Given the description of an element on the screen output the (x, y) to click on. 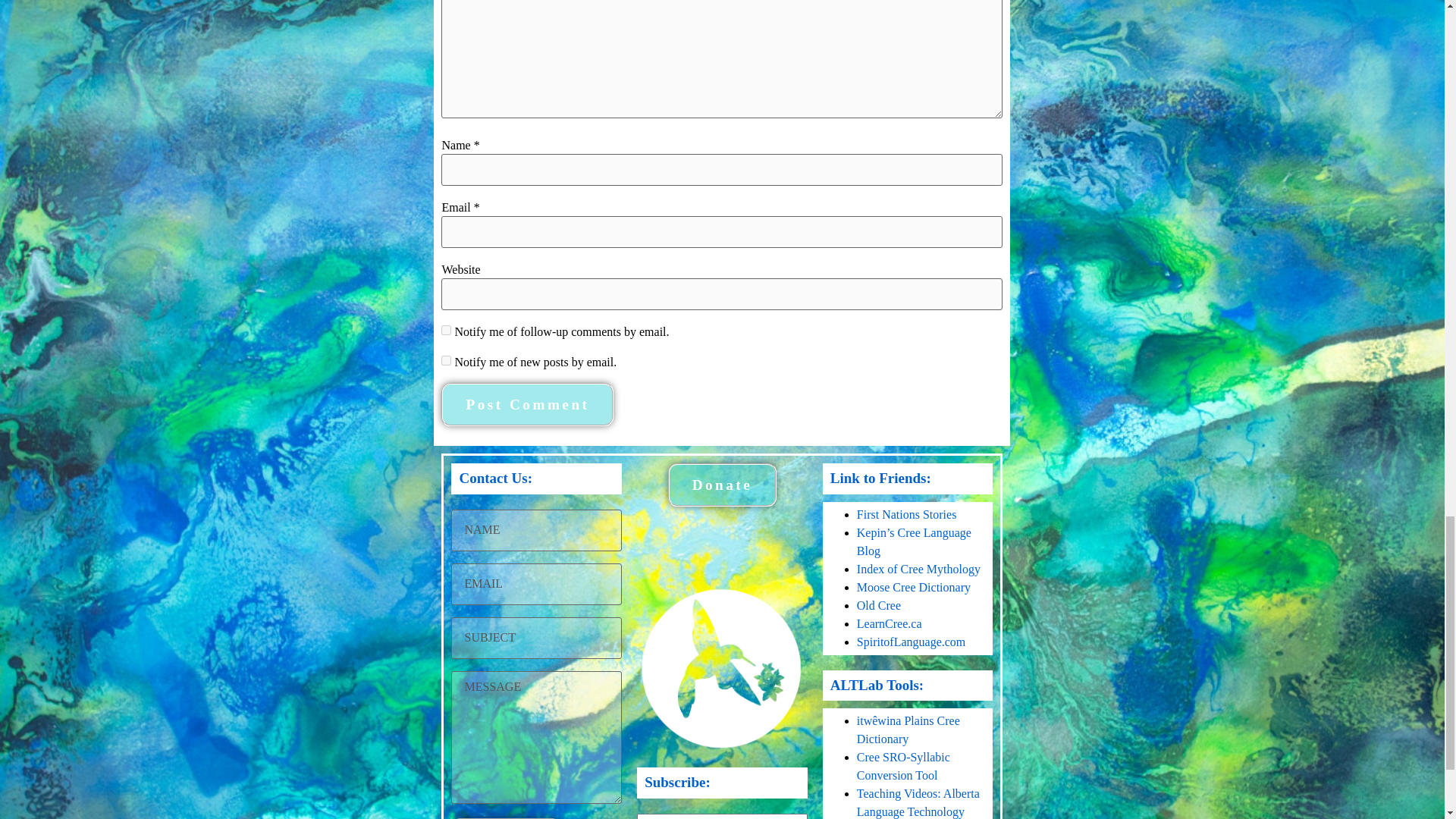
subscribe (446, 360)
Post Comment (526, 404)
NAME (536, 530)
SUBJECT (536, 638)
subscribe (446, 329)
EMAIL (536, 584)
